Given the description of an element on the screen output the (x, y) to click on. 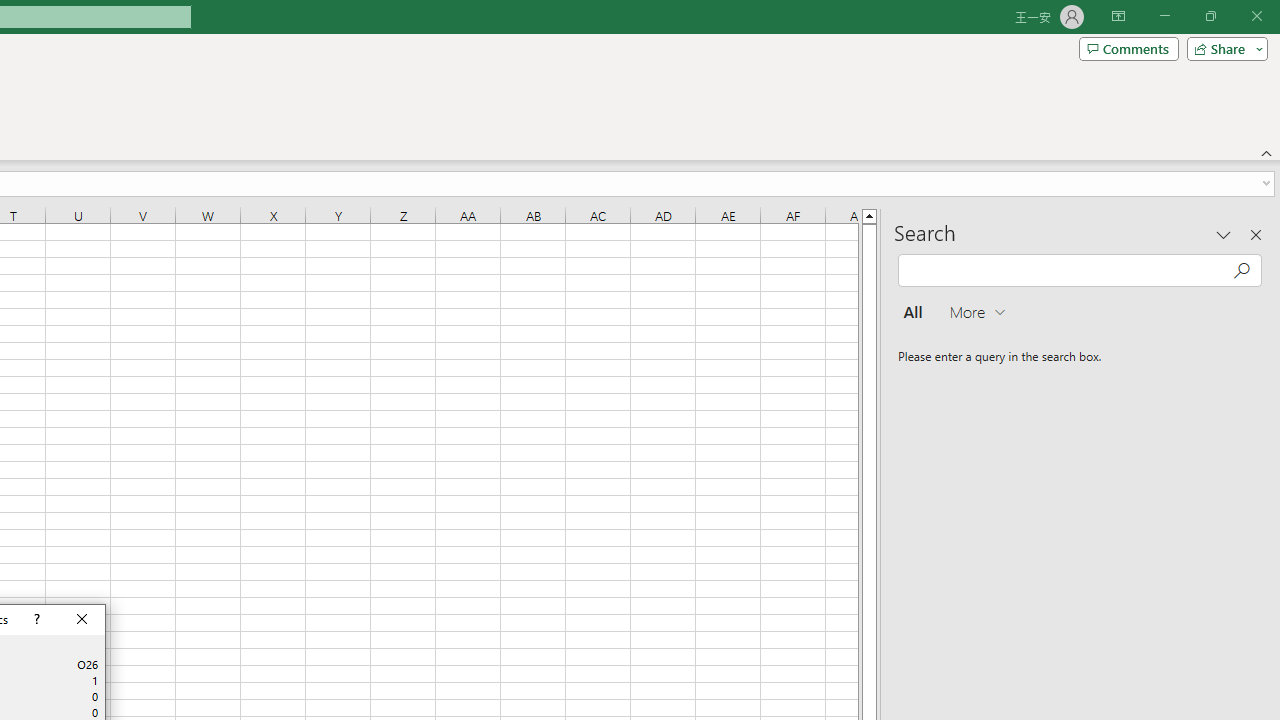
Ribbon Display Options (1118, 16)
Close (82, 619)
Context help (34, 619)
Close pane (1256, 234)
Share (1223, 48)
Task Pane Options (1224, 234)
Collapse the Ribbon (1267, 152)
Comments (1128, 48)
Line up (869, 215)
Minimize (1164, 16)
Restore Down (1210, 16)
